Given the description of an element on the screen output the (x, y) to click on. 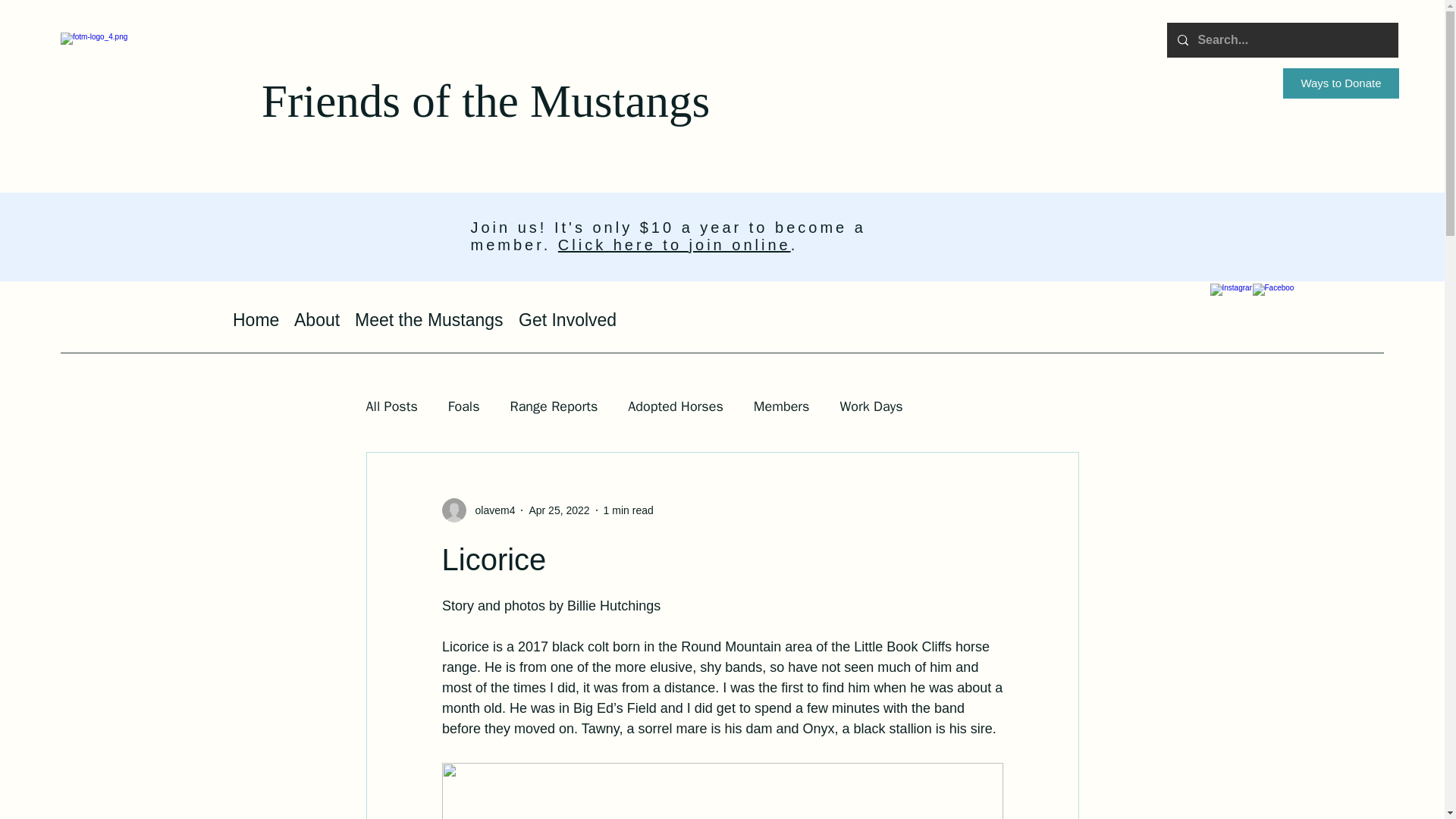
Home (255, 315)
1 min read (628, 509)
Apr 25, 2022 (558, 509)
Work Days (871, 406)
Adopted Horses (674, 406)
olavem4 (490, 509)
Ways to Donate (1340, 82)
Foals (464, 406)
Meet the Mustangs (429, 315)
Get Involved (567, 315)
